Given the description of an element on the screen output the (x, y) to click on. 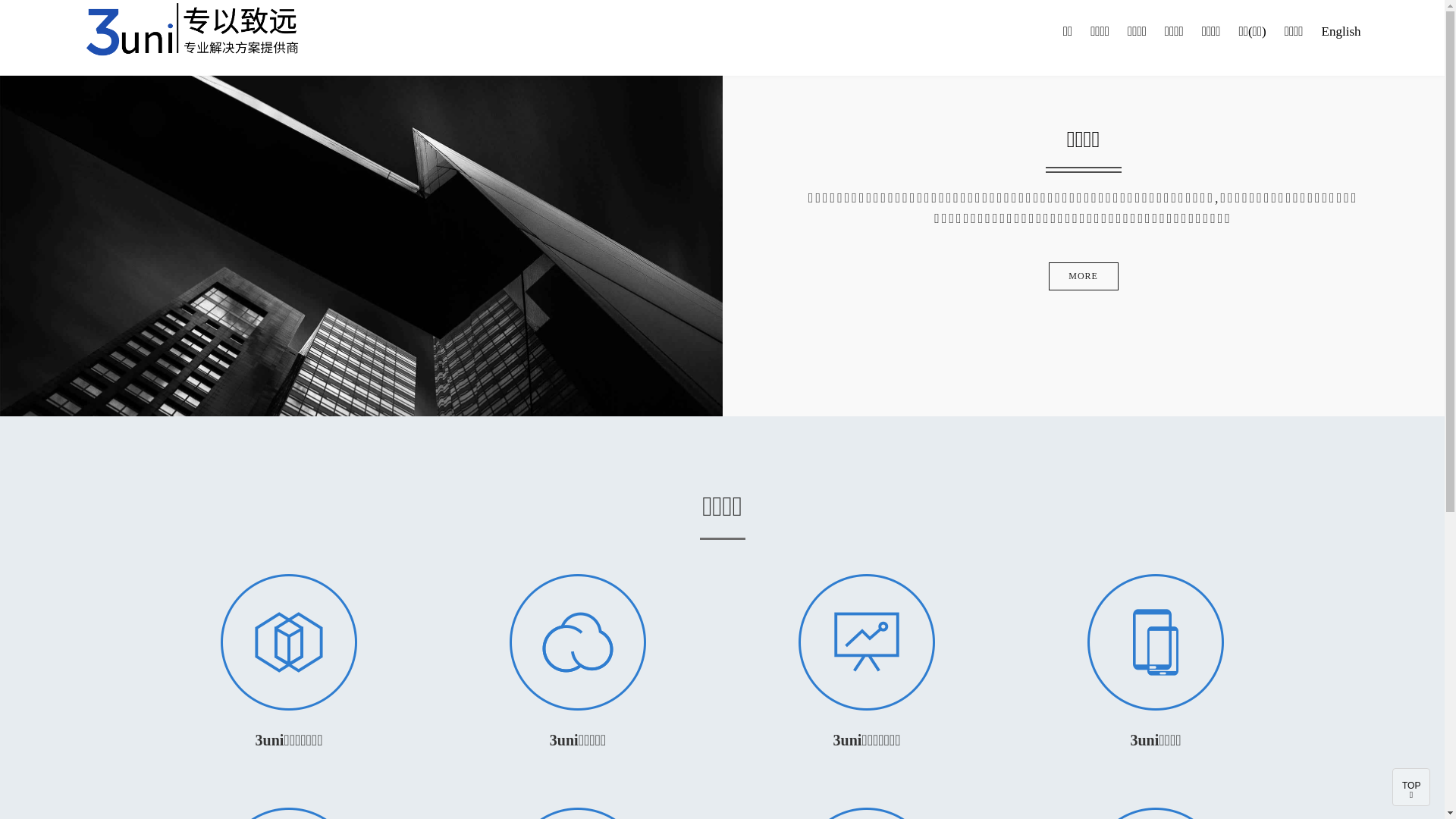
MORE Element type: text (1083, 275)
English Element type: text (1341, 31)
